Given the description of an element on the screen output the (x, y) to click on. 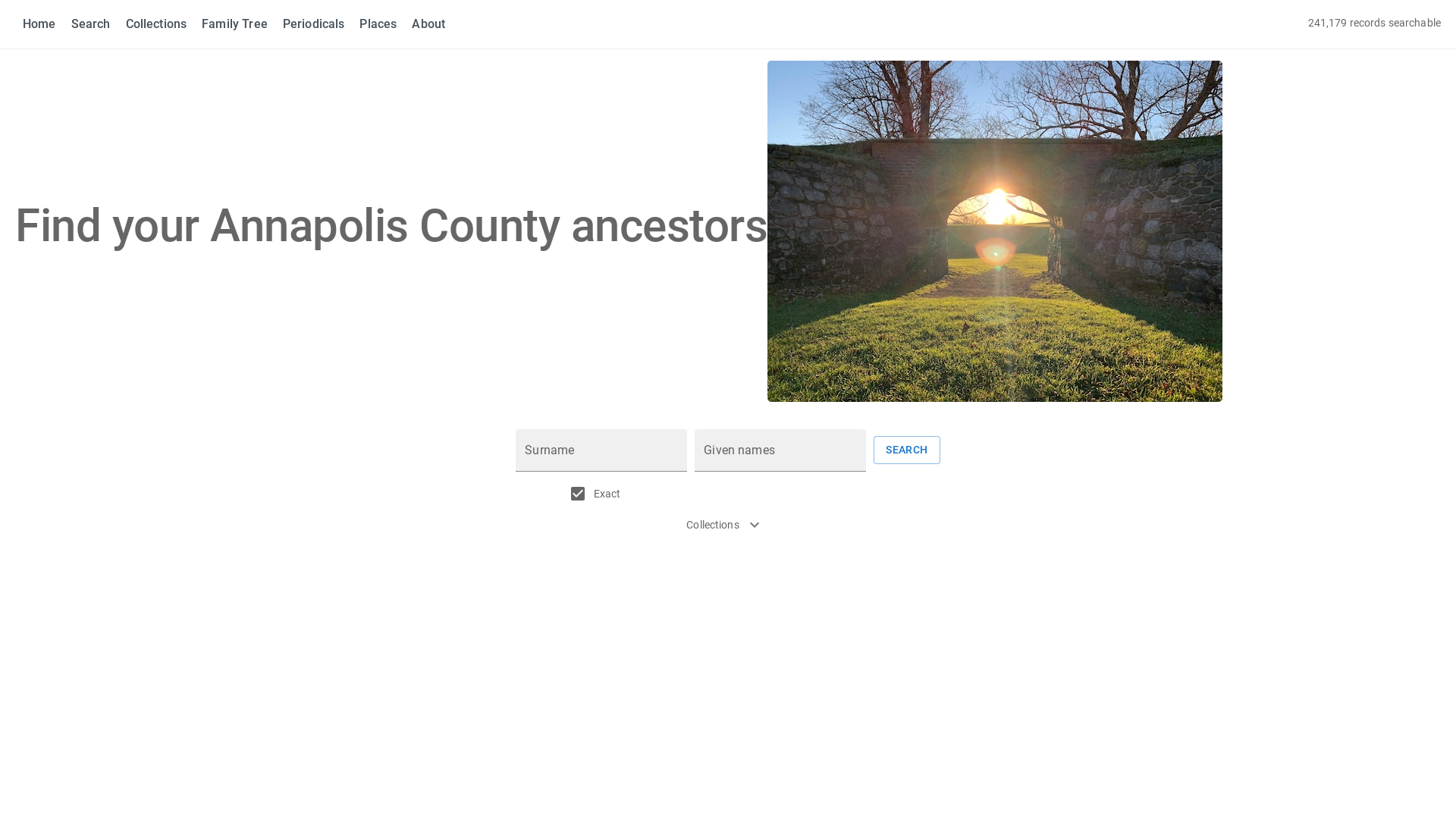
About Element type: text (428, 23)
Family Tree Element type: text (234, 23)
SEARCH Element type: text (906, 450)
Collections Element type: text (156, 23)
Home Element type: text (39, 23)
Places Element type: text (377, 23)
Periodicals Element type: text (313, 23)
Search Element type: text (90, 23)
